Given the description of an element on the screen output the (x, y) to click on. 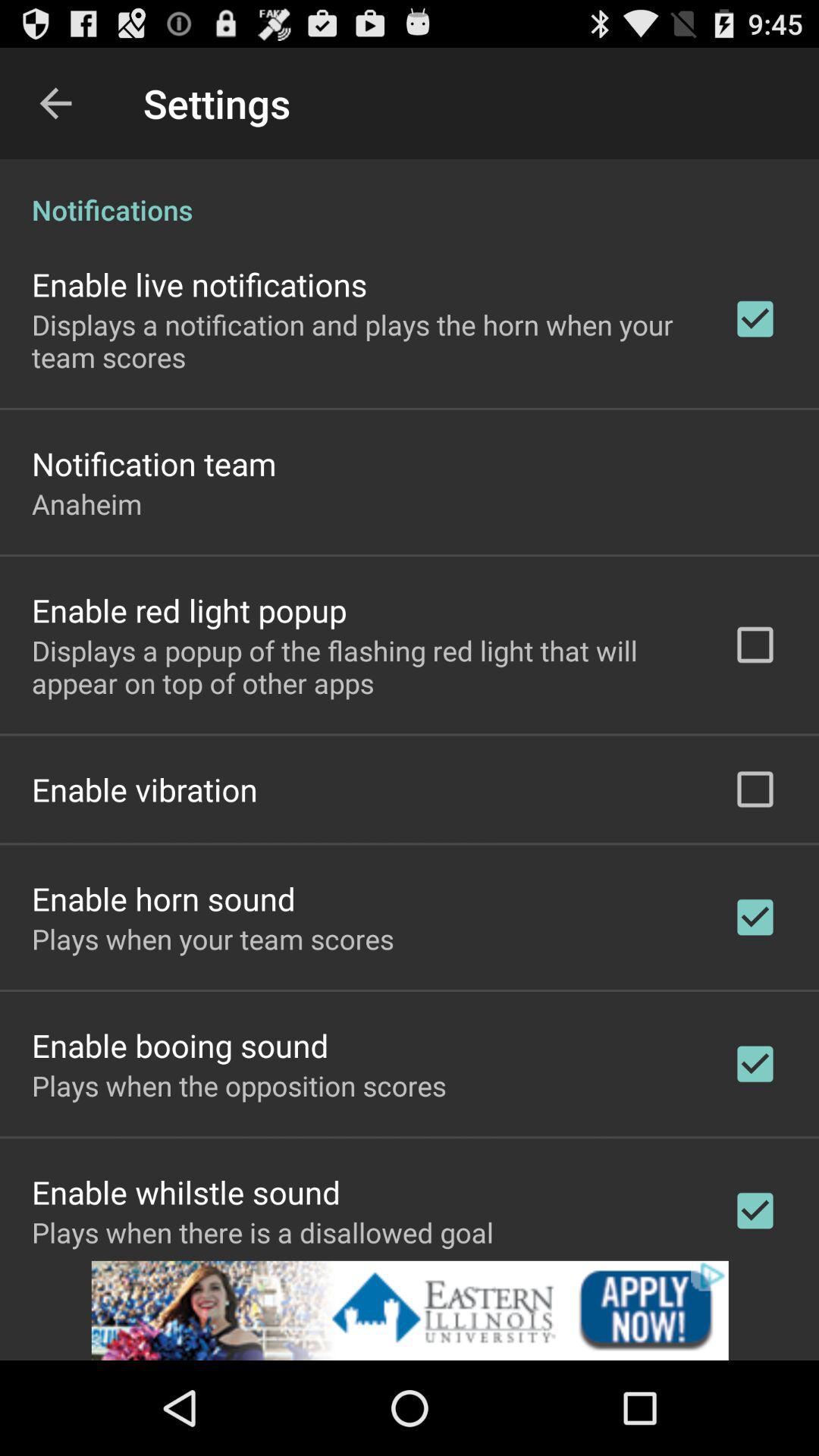
apply to college (409, 1310)
